Given the description of an element on the screen output the (x, y) to click on. 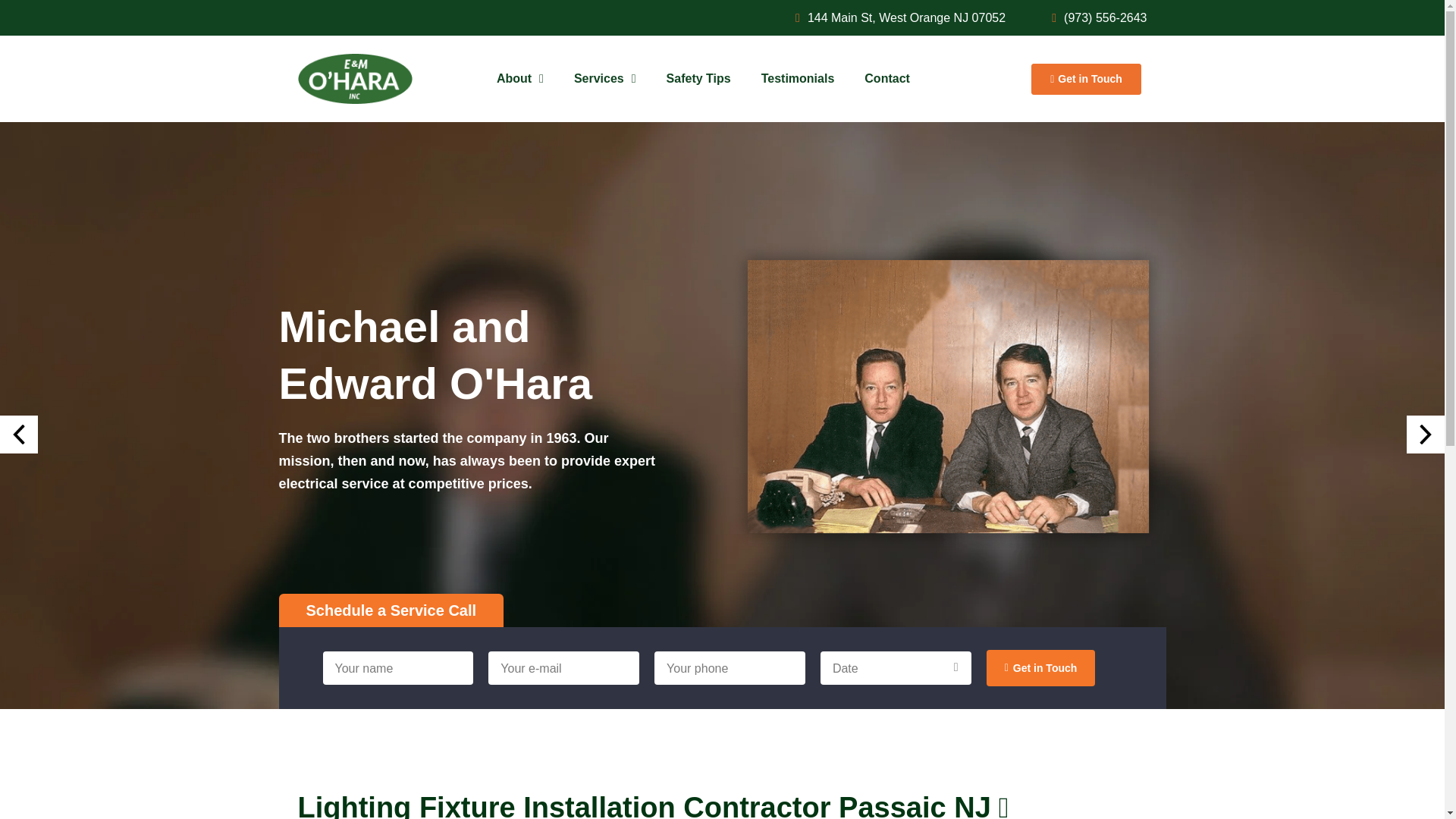
About (520, 78)
Get in Touch (1041, 668)
144 Main St, West Orange NJ 07052 (895, 17)
Safety Tips (697, 78)
Get in Touch (1085, 79)
Contact (886, 78)
Services (604, 78)
Previous (18, 434)
Testimonials (797, 78)
